Given the description of an element on the screen output the (x, y) to click on. 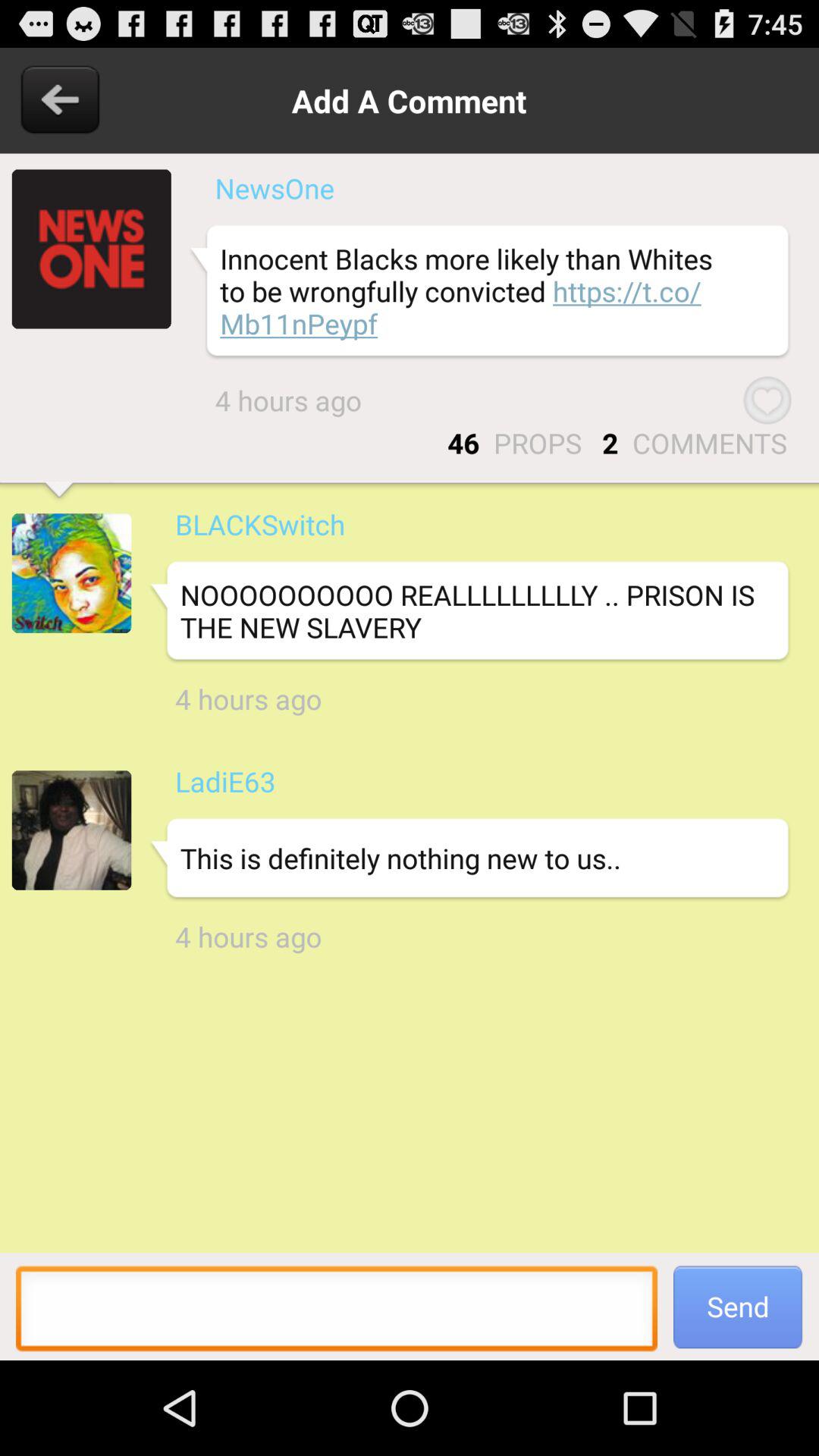
press the item above comments item (767, 400)
